Given the description of an element on the screen output the (x, y) to click on. 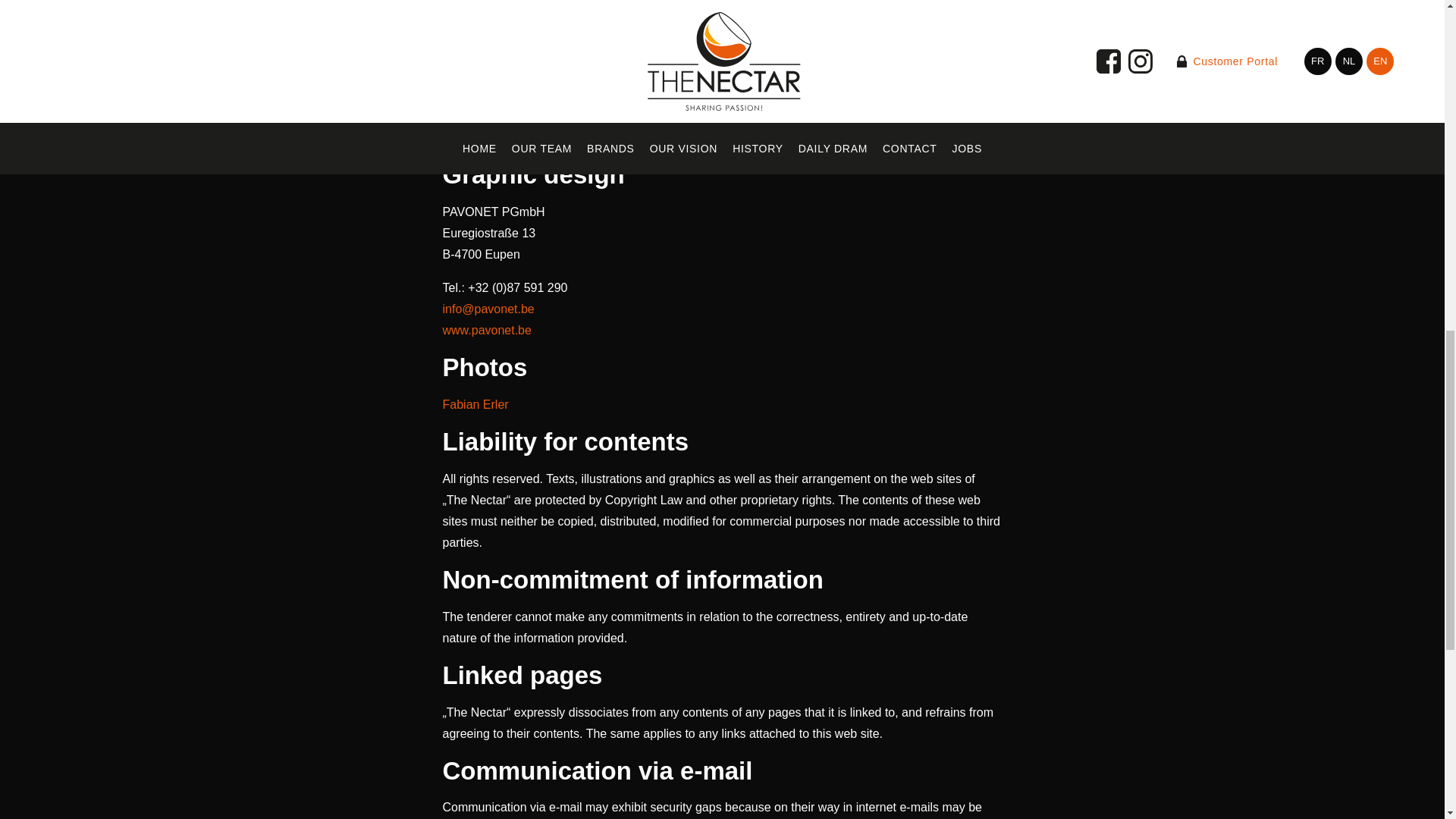
Fabian Erler (475, 404)
www.pavonet.be (486, 329)
www.pixelbar.be (486, 137)
